Given the description of an element on the screen output the (x, y) to click on. 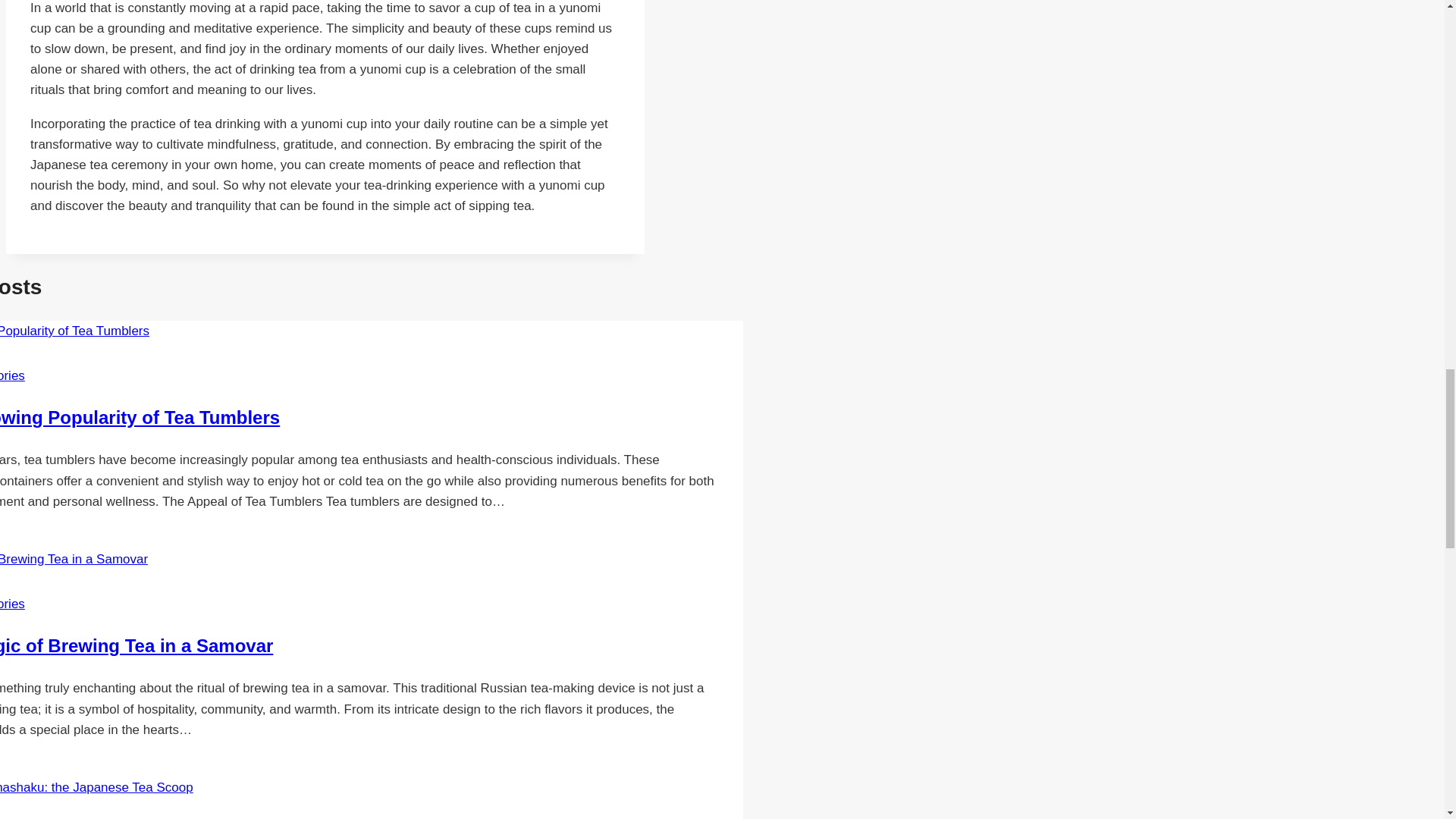
The Magic of Brewing Tea in a Samovar (136, 645)
The Growing Popularity of Tea Tumblers (139, 417)
Tea Accessories (12, 603)
Tea Accessories (12, 375)
